Given the description of an element on the screen output the (x, y) to click on. 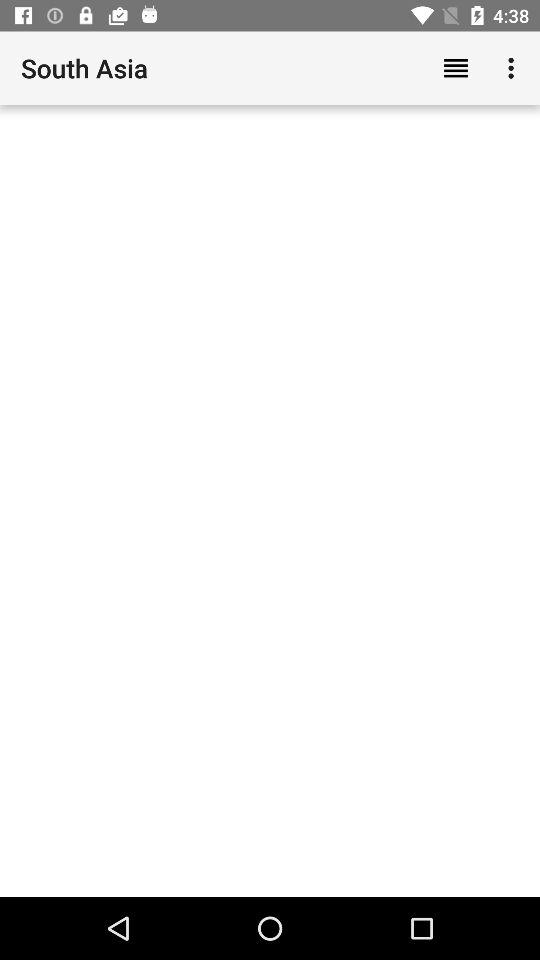
select icon at the center (270, 500)
